Given the description of an element on the screen output the (x, y) to click on. 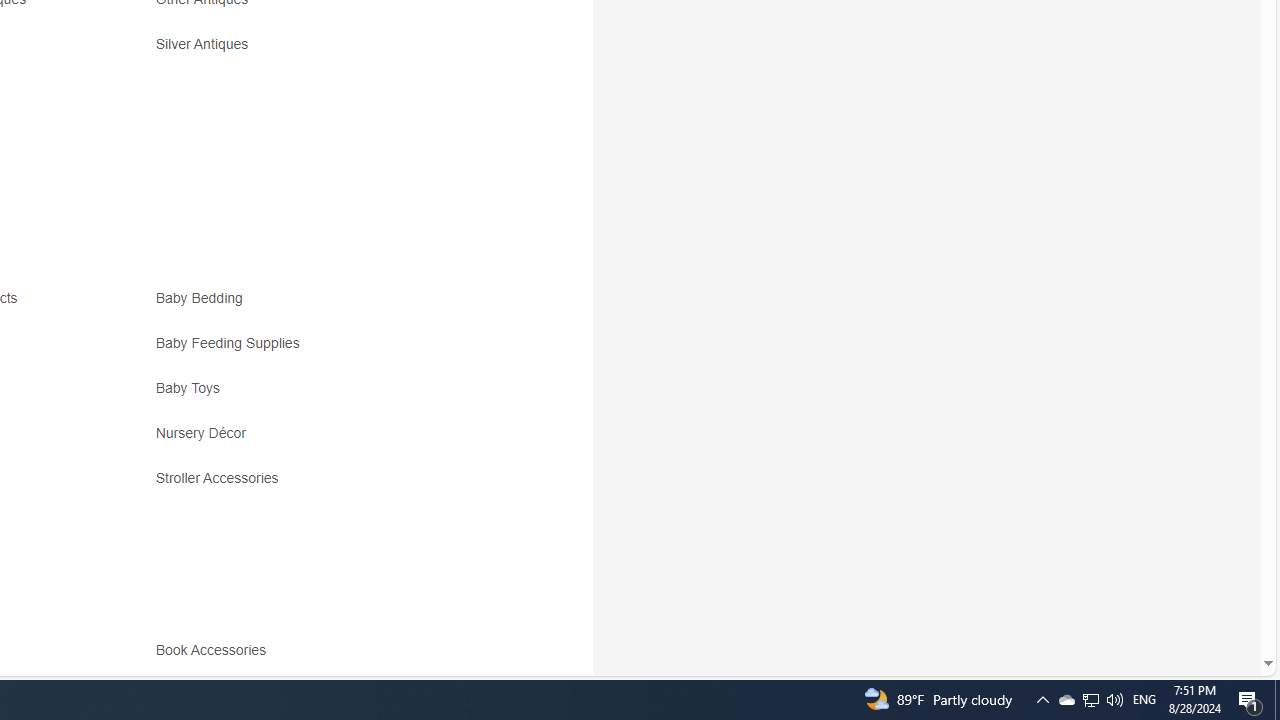
Book Accessories (332, 657)
Baby Toys (332, 395)
Book Accessories (215, 650)
Baby Toys (192, 388)
Silver Antiques (332, 51)
Baby Feeding Supplies (231, 343)
Baby Bedding (203, 298)
Stroller Accessories (221, 478)
Baby Feeding Supplies (332, 349)
Baby Bedding (332, 305)
Stroller Accessories (332, 485)
Silver Antiques (206, 43)
